Given the description of an element on the screen output the (x, y) to click on. 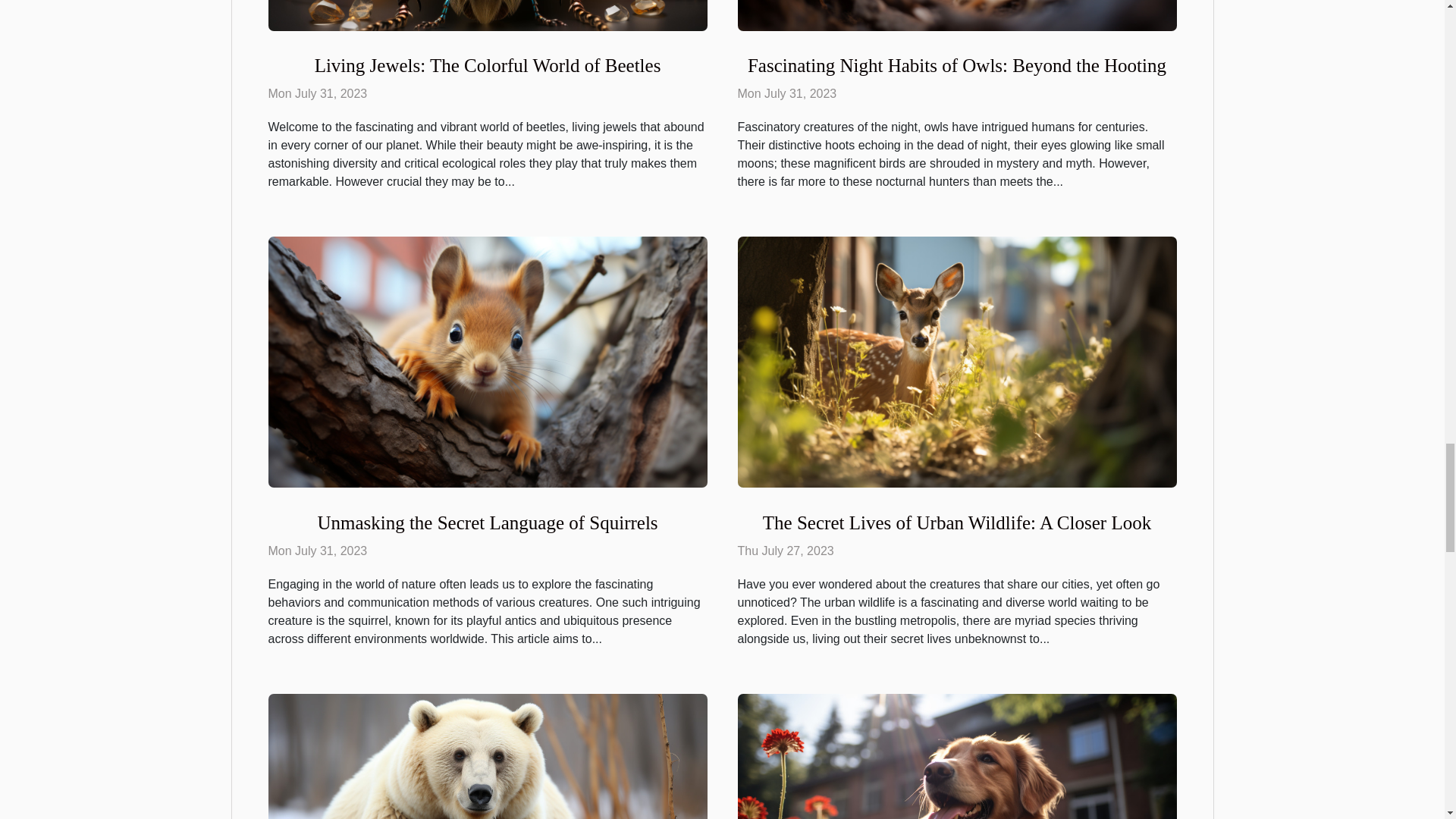
Living Jewels: The Colorful World of Beetles (487, 65)
The Secret Lives of Urban Wildlife: A Closer Look (956, 522)
Living Jewels: The Colorful World of Beetles (487, 65)
Fascinating Night Habits of Owls: Beyond the Hooting (957, 65)
Unmasking the Secret Language of Squirrels (487, 522)
